Given the description of an element on the screen output the (x, y) to click on. 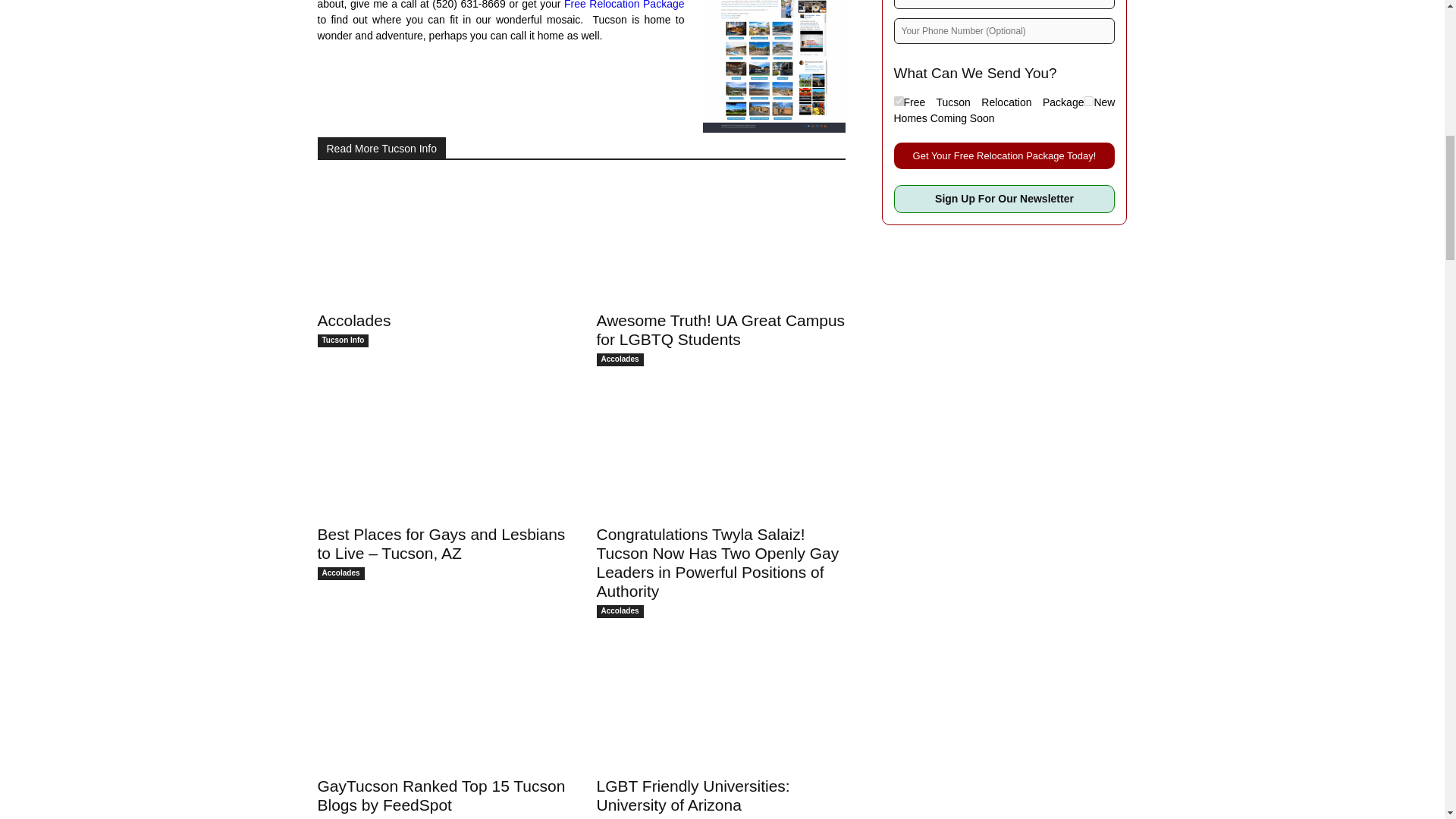
New Homes Coming Soon (1088, 101)
Get Your Free Relocation Package Today! (1004, 155)
Free Tucson Relocation Package (897, 101)
Accolades (441, 241)
Awesome Truth! UA Great Campus for LGBTQ Students (719, 241)
Awesome Truth! UA Great Campus for LGBTQ Students (719, 330)
Accolades (353, 320)
